Given the description of an element on the screen output the (x, y) to click on. 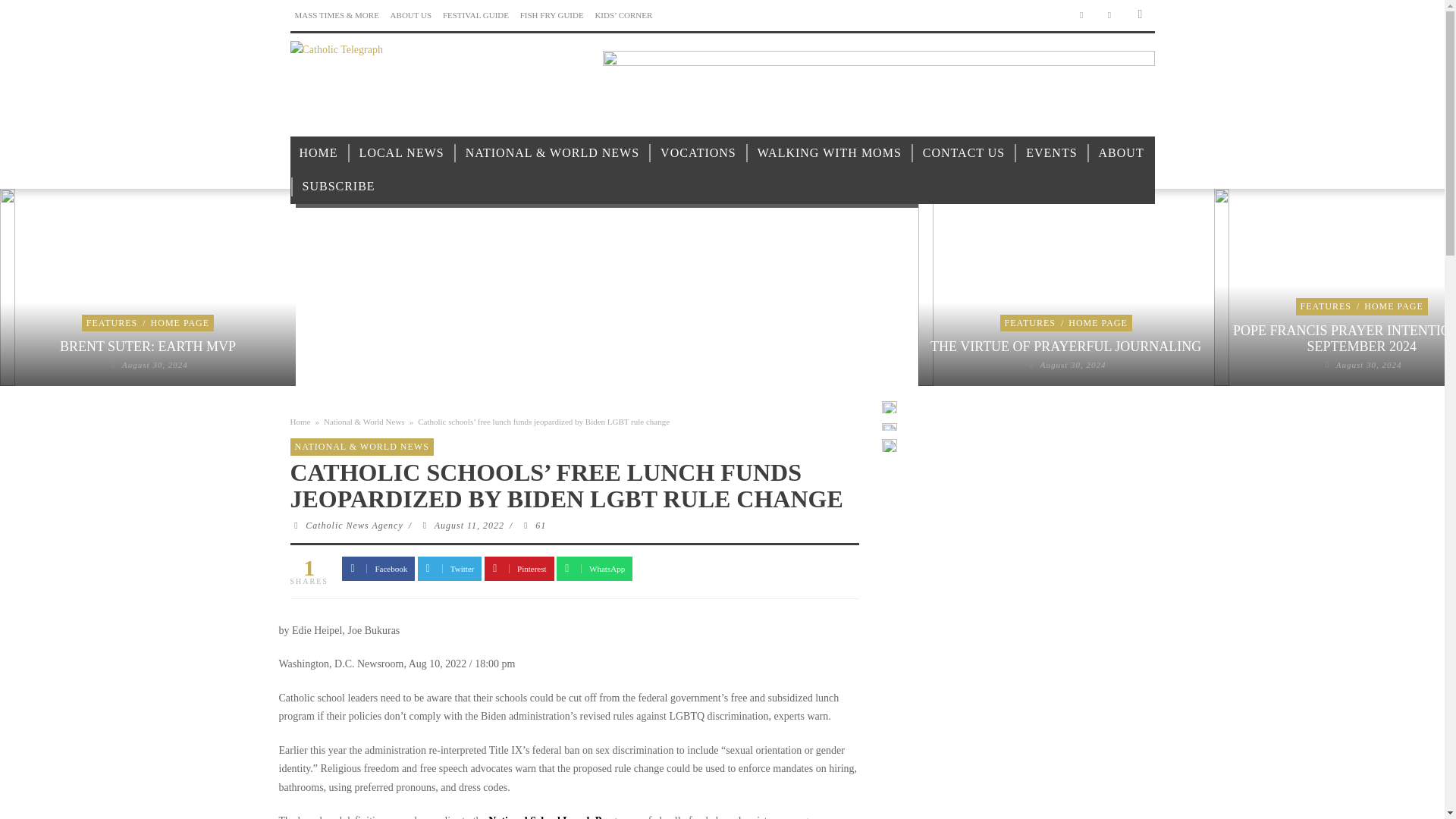
Permalink to Brent Suter: Earth MVP (154, 364)
VOCATIONS (697, 153)
FISH FRY GUIDE (551, 15)
ABOUT (1121, 153)
View all posts in Features (1029, 322)
HOME (317, 153)
View all posts in Home Page (180, 322)
Walking with Moms (829, 153)
View all posts in Features (110, 322)
